Given the description of an element on the screen output the (x, y) to click on. 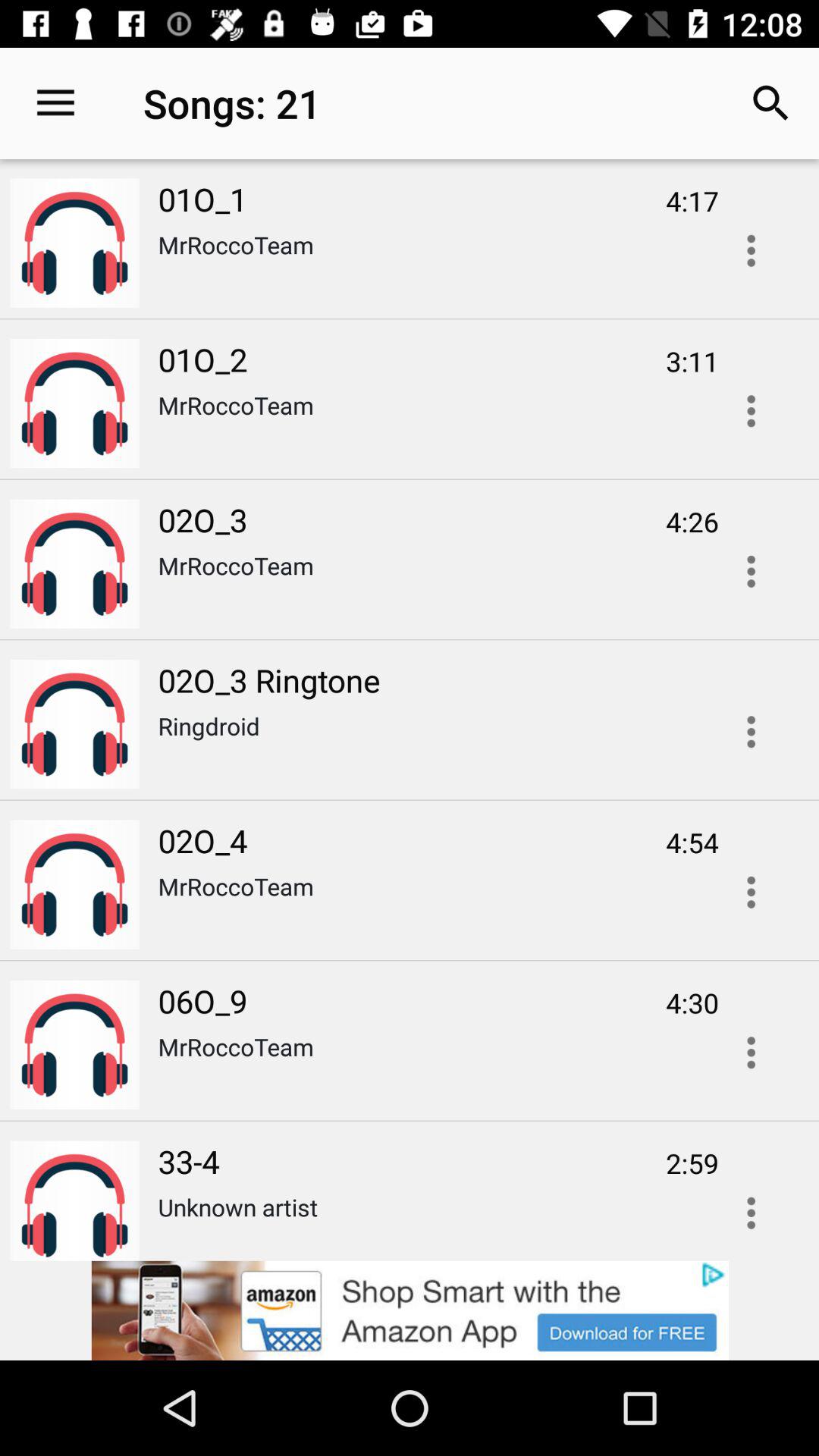
open options (750, 571)
